Given the description of an element on the screen output the (x, y) to click on. 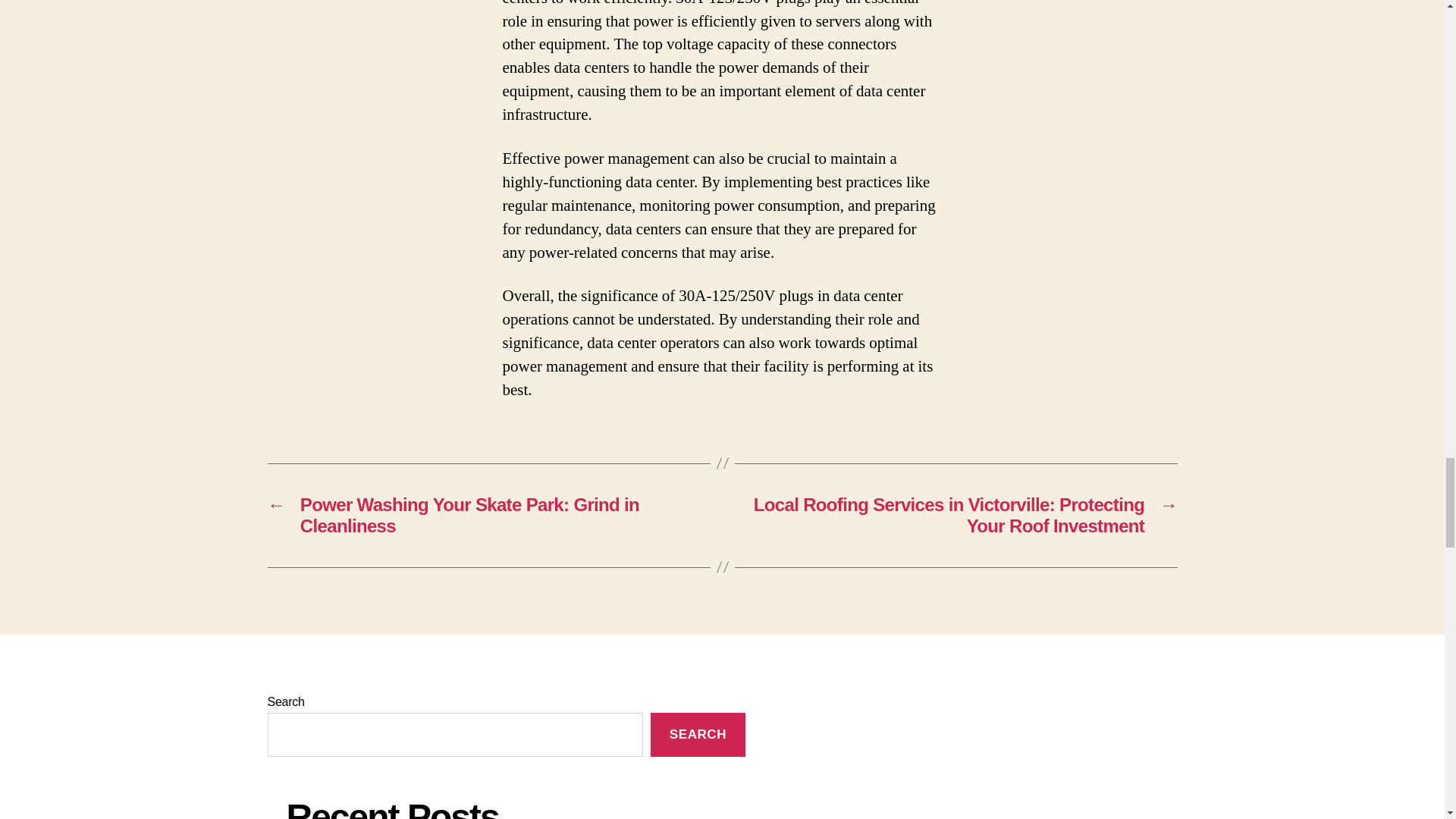
SEARCH (697, 734)
